Given the description of an element on the screen output the (x, y) to click on. 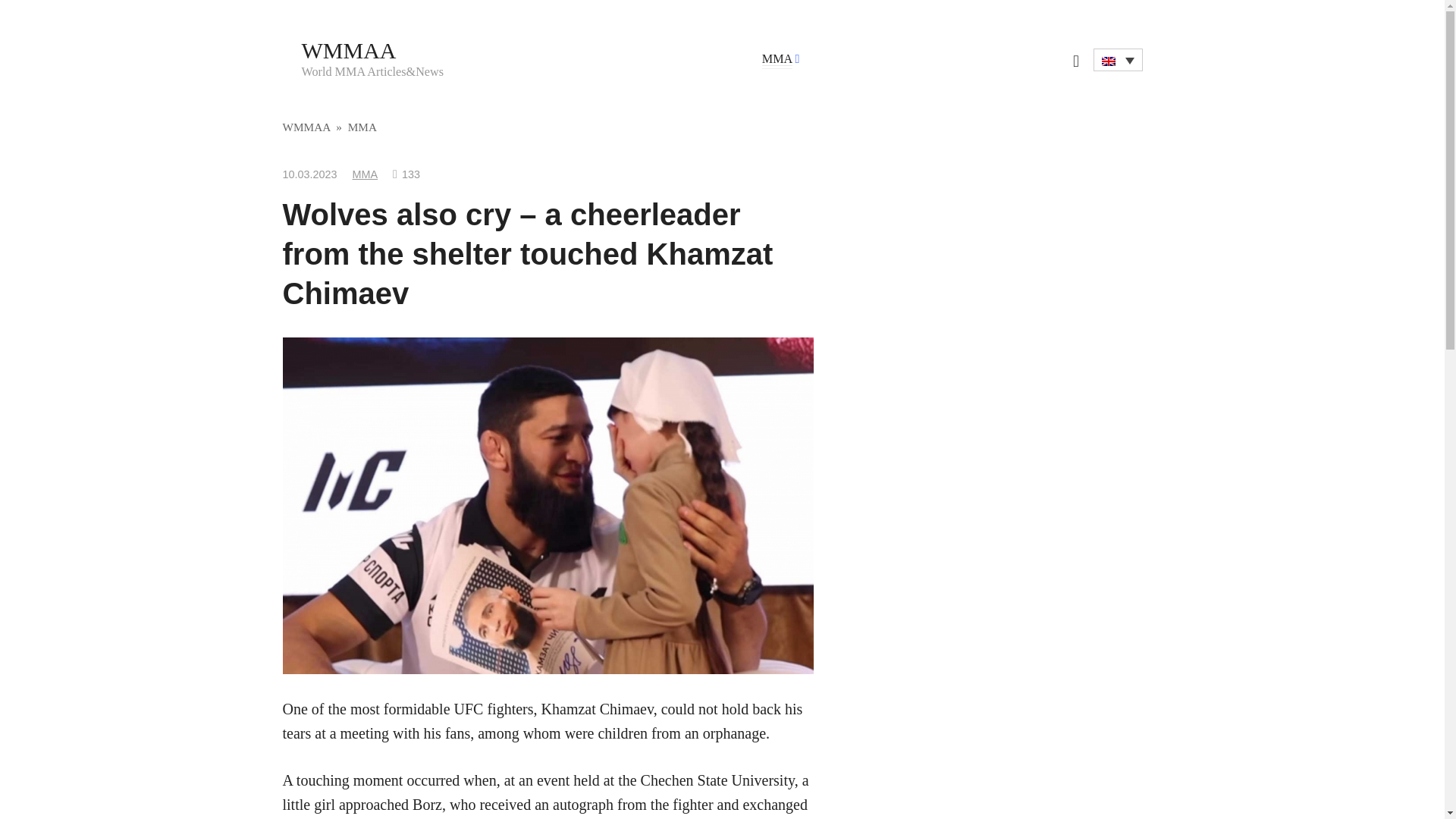
MMA (362, 126)
WMMAA (306, 126)
WMMAA (348, 50)
MMA (776, 59)
MMA (365, 174)
